Given the description of an element on the screen output the (x, y) to click on. 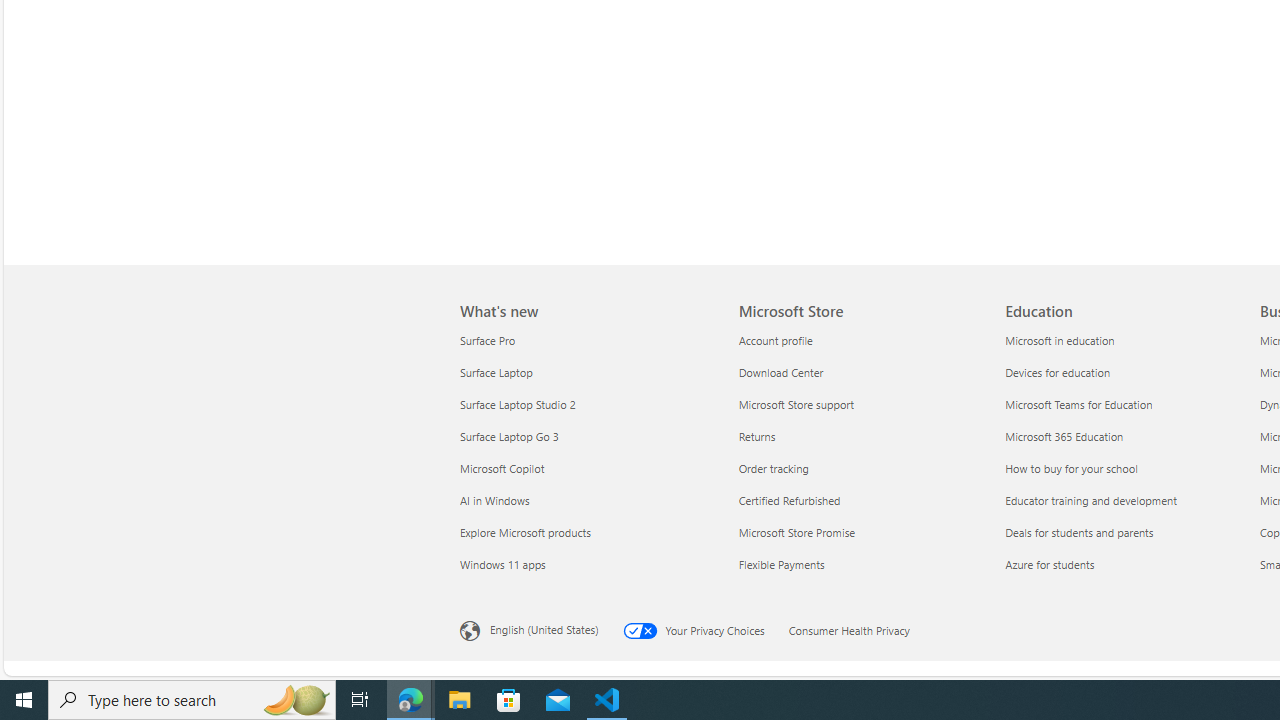
Deals for students and parents (1126, 532)
Microsoft Store support (859, 404)
Explore Microsoft products What's new (525, 532)
How to buy for your school (1126, 468)
Download Center (859, 371)
Surface Laptop Studio 2 (587, 404)
Microsoft Copilot (587, 468)
Surface Laptop Go 3 (587, 435)
Returns Microsoft Store (756, 435)
Microsoft 365 Education (1126, 435)
Your Privacy Choices Opt-Out Icon (643, 630)
Certified Refurbished (859, 499)
AI in Windows (587, 499)
Microsoft in education (1126, 340)
Account profile (859, 340)
